Given the description of an element on the screen output the (x, y) to click on. 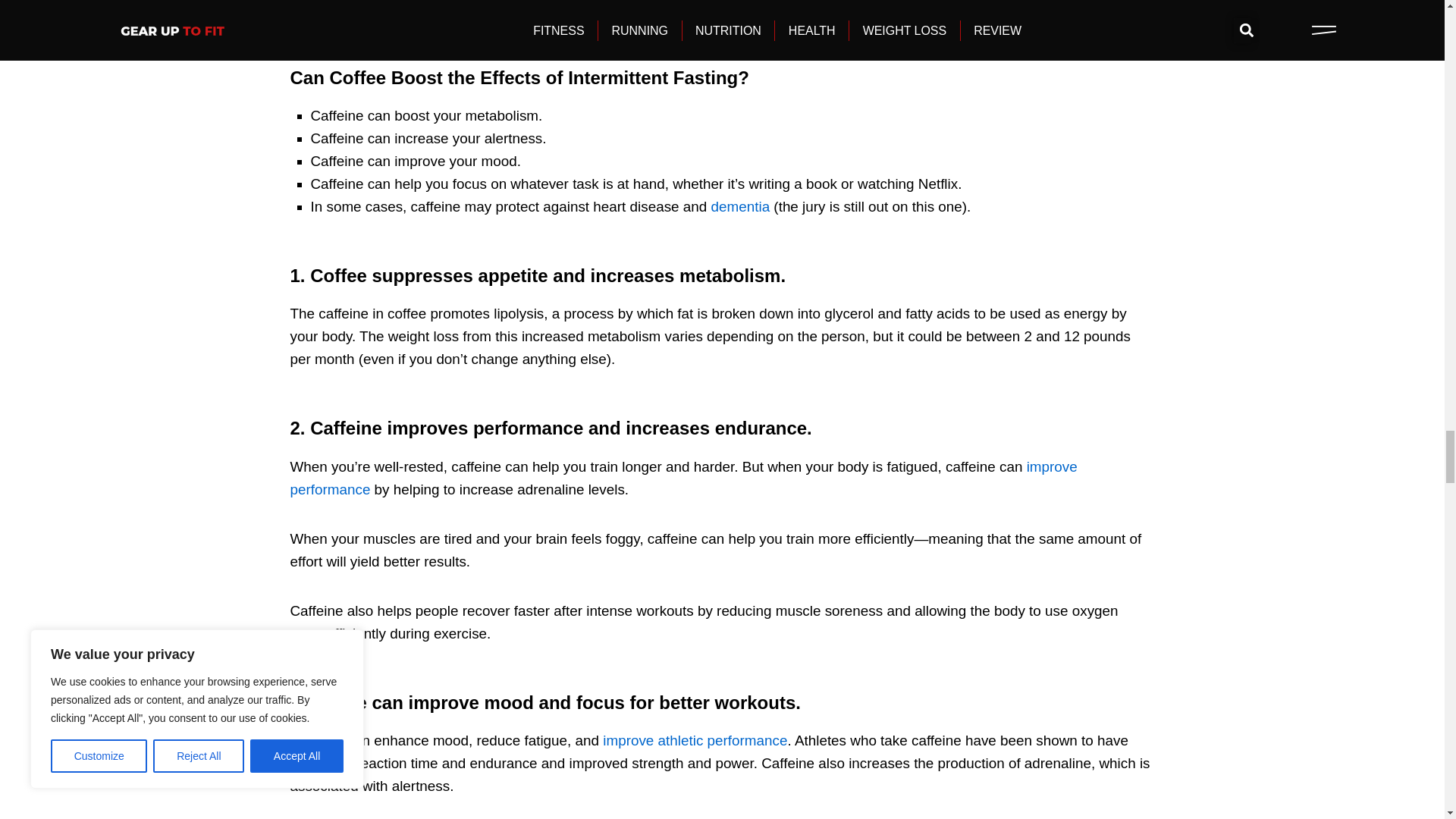
improve performance (683, 477)
improve athletic performance (694, 740)
